Given the description of an element on the screen output the (x, y) to click on. 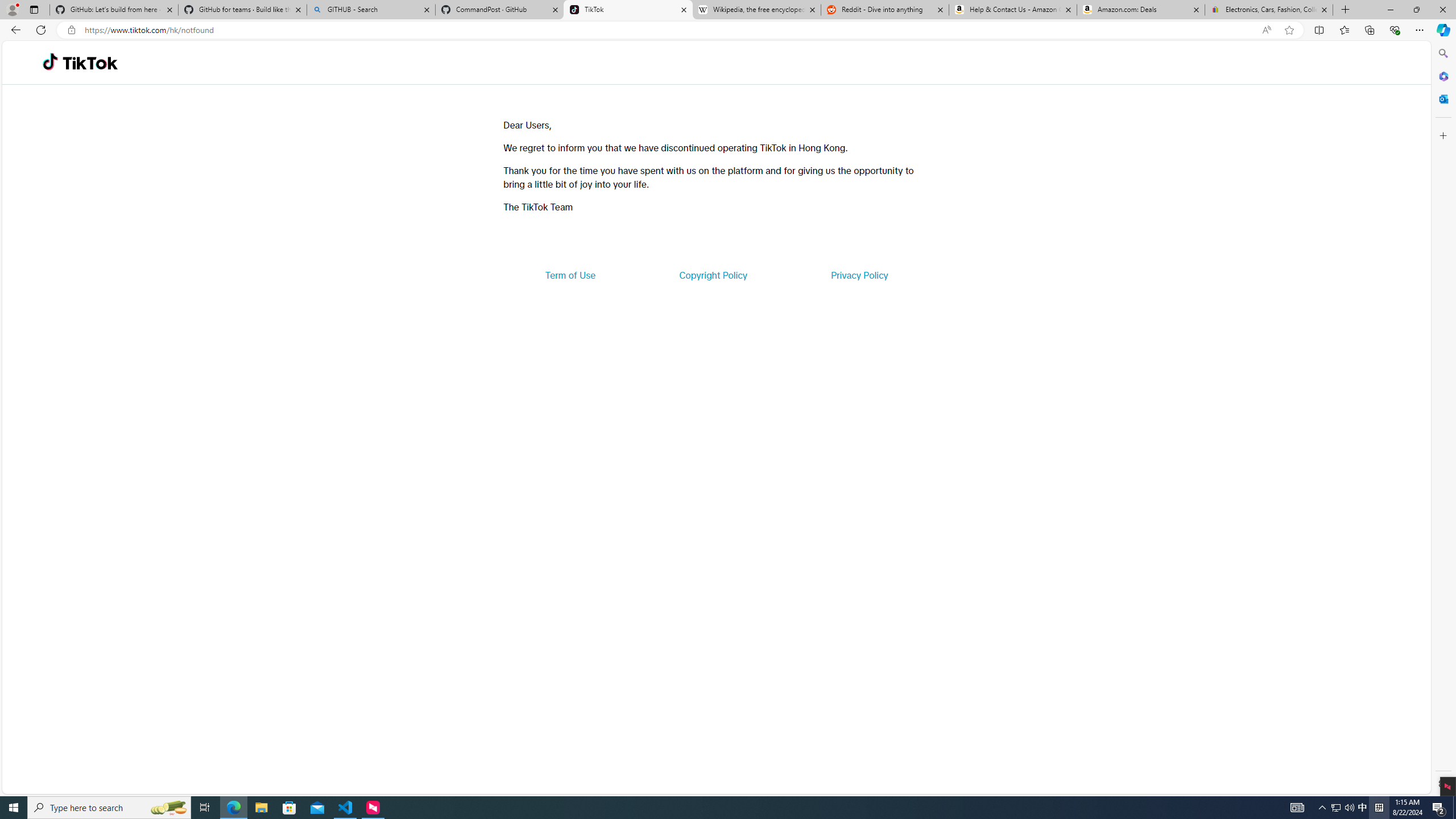
Privacy Policy (858, 274)
Amazon.com: Deals (1140, 9)
